Given the description of an element on the screen output the (x, y) to click on. 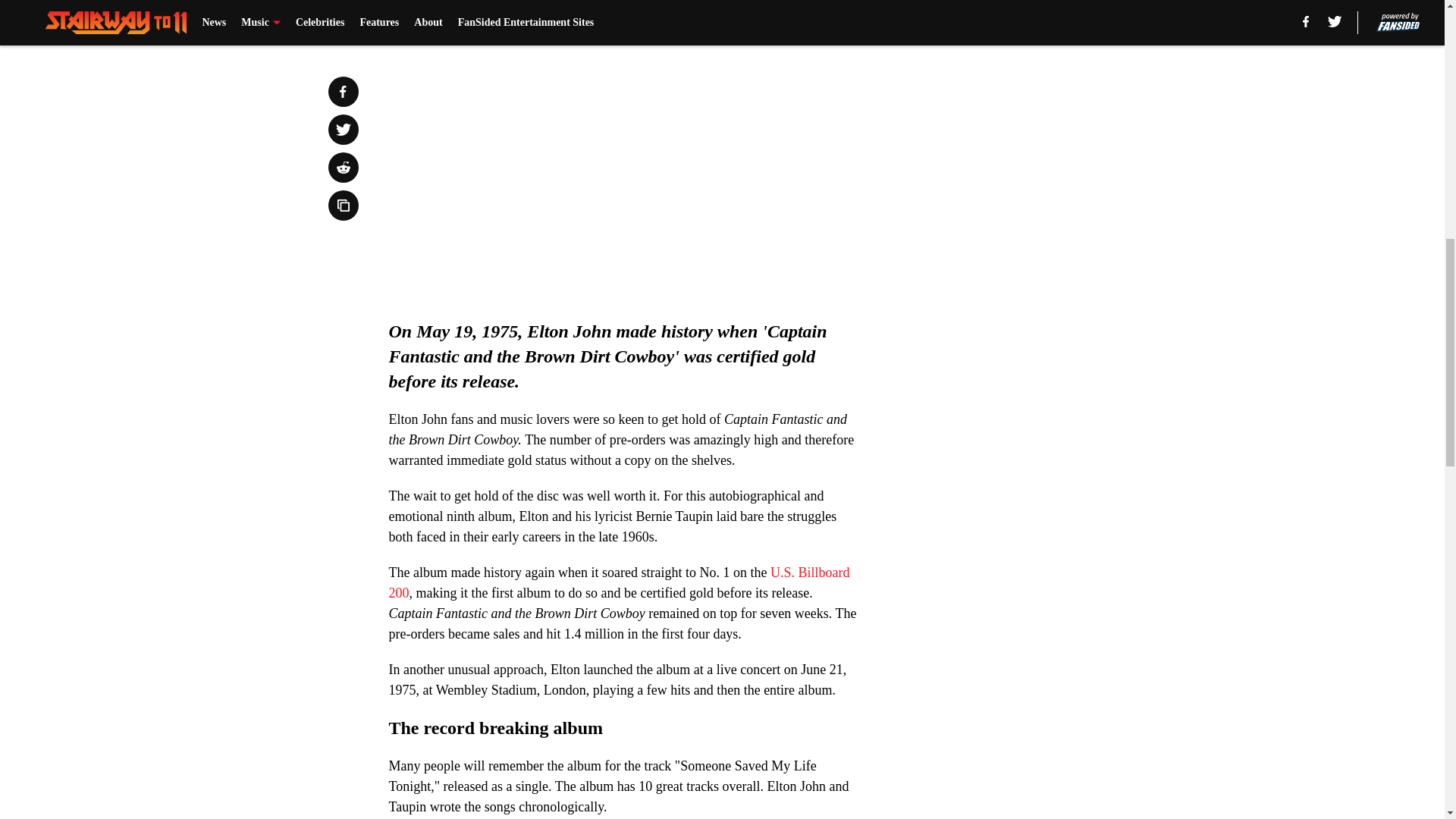
U.S. Billboard 200 (618, 582)
